Given the description of an element on the screen output the (x, y) to click on. 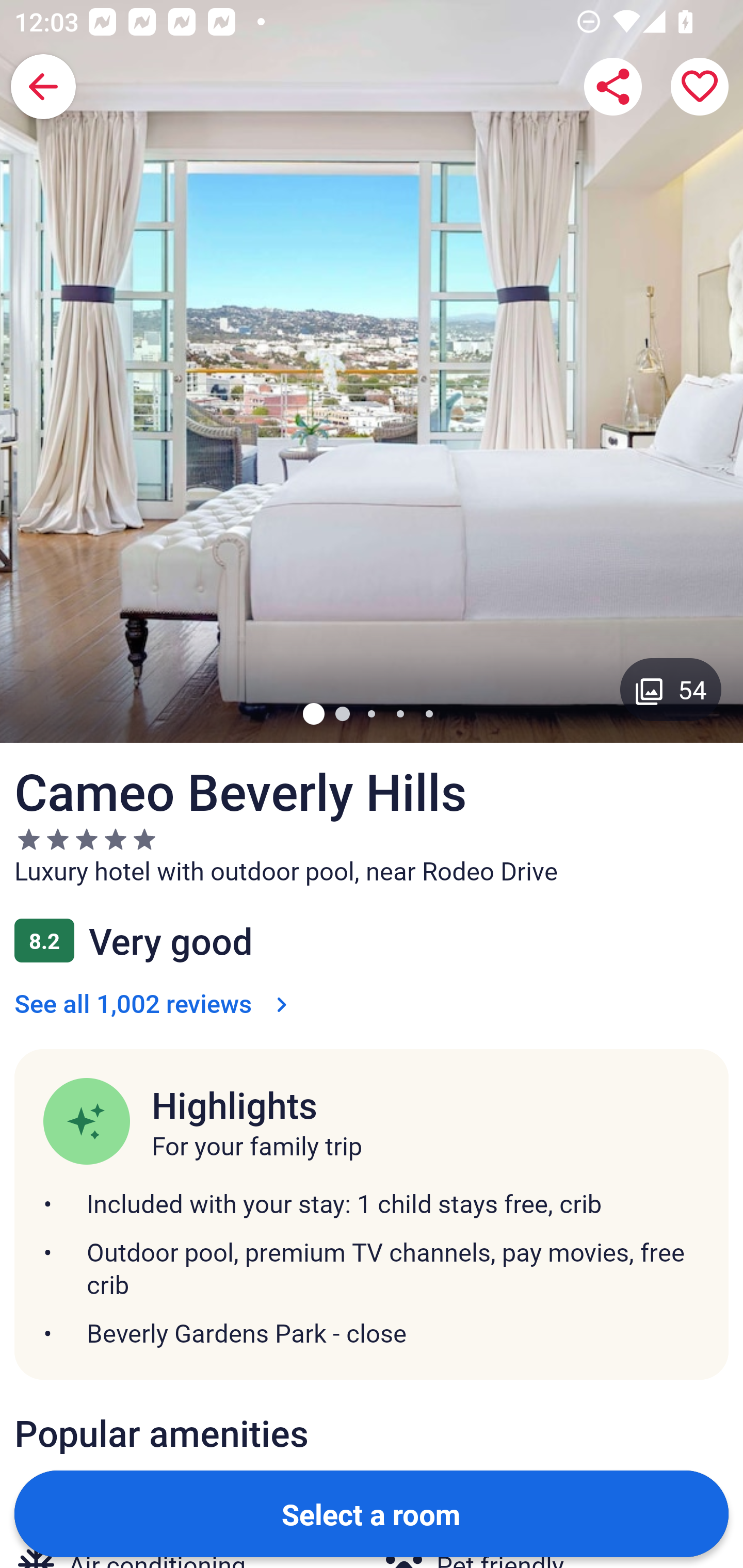
Back (43, 86)
Save property to a trip (699, 86)
Share Cameo Beverly Hills (612, 87)
Gallery button with 54 images (670, 689)
See all 1,002 reviews See all 1,002 reviews Link (154, 1002)
Select a room Button Select a room (371, 1513)
